Given the description of an element on the screen output the (x, y) to click on. 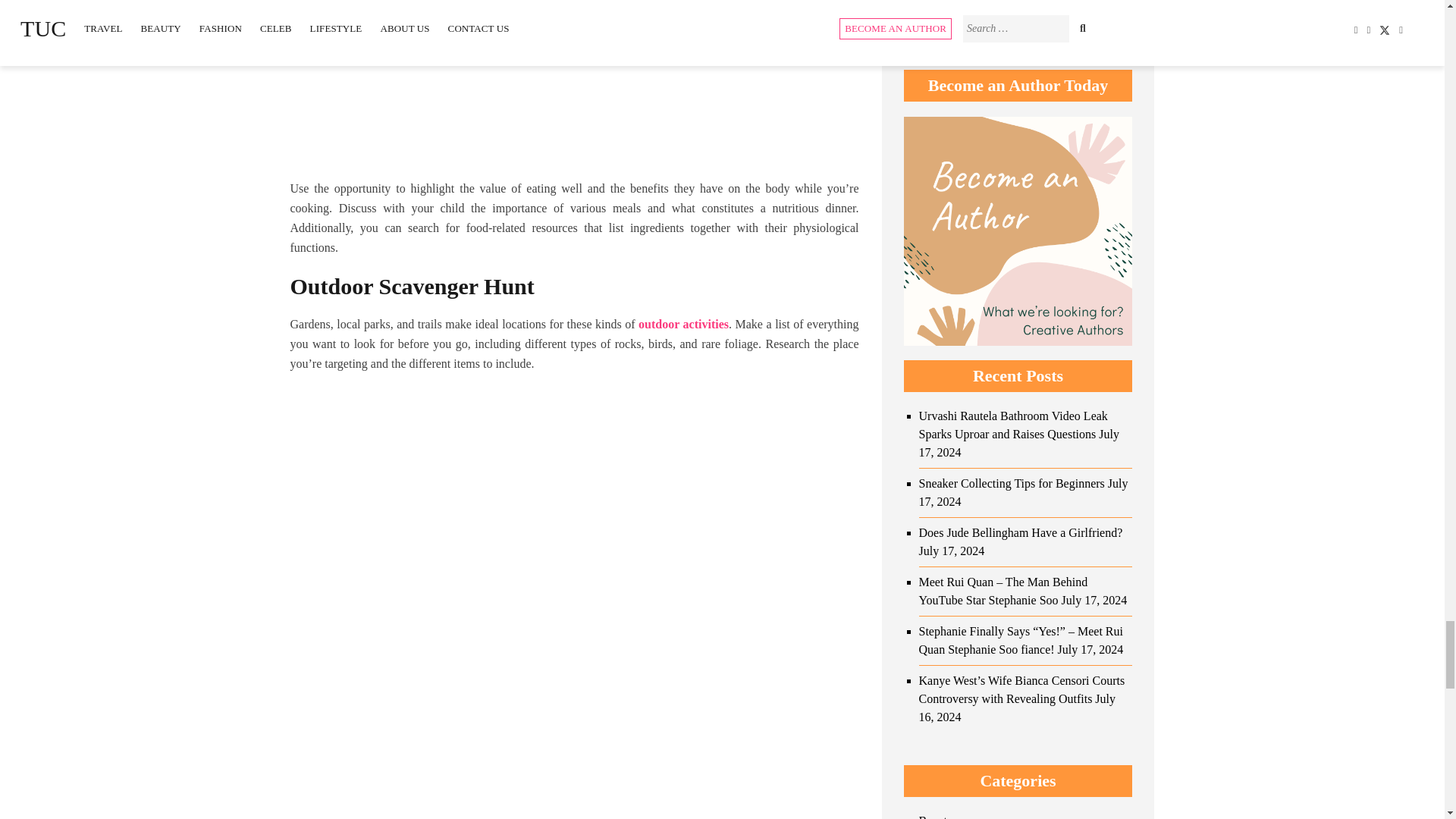
outdoor activities (684, 323)
